Given the description of an element on the screen output the (x, y) to click on. 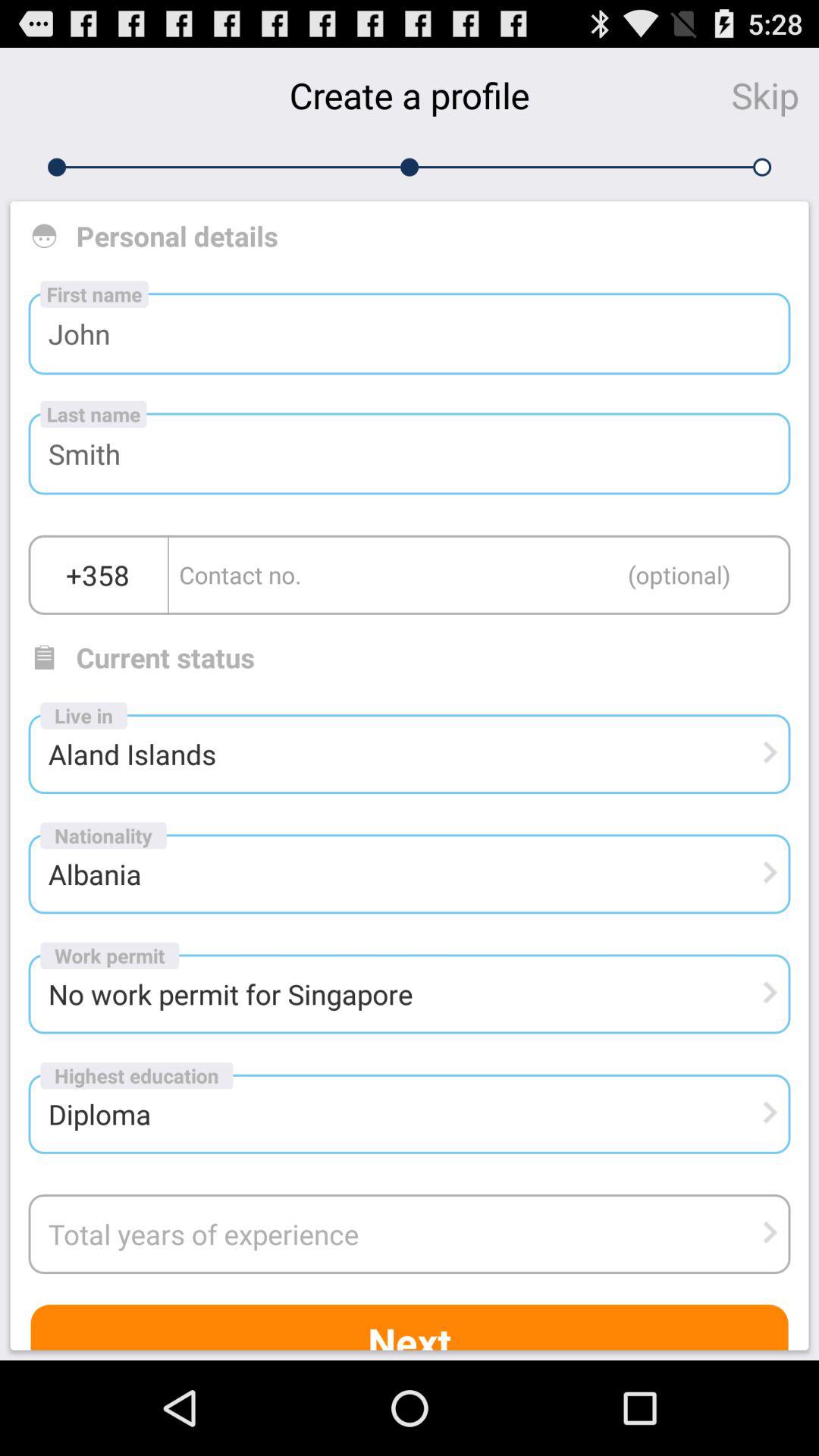
enter value (479, 574)
